Given the description of an element on the screen output the (x, y) to click on. 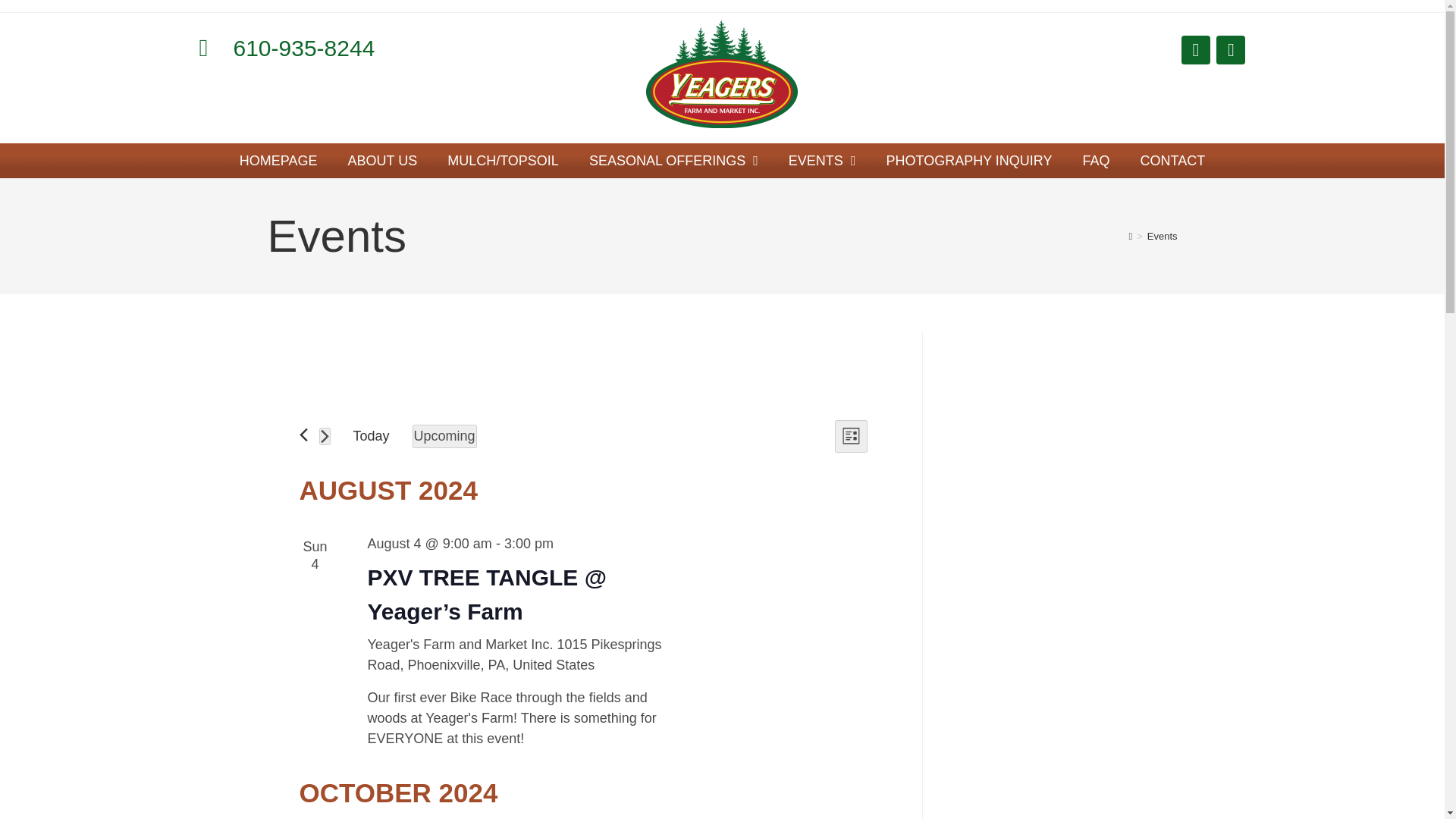
CONTACT (1173, 160)
HOMEPAGE (278, 160)
SEASONAL OFFERINGS (673, 160)
EVENTS (821, 160)
New logo (721, 73)
FAQ (1096, 160)
Click to select today's date (370, 436)
PHOTOGRAPHY INQUIRY (968, 160)
610-935-8244 (367, 47)
Click to toggle datepicker (444, 436)
ABOUT US (381, 160)
